Given the description of an element on the screen output the (x, y) to click on. 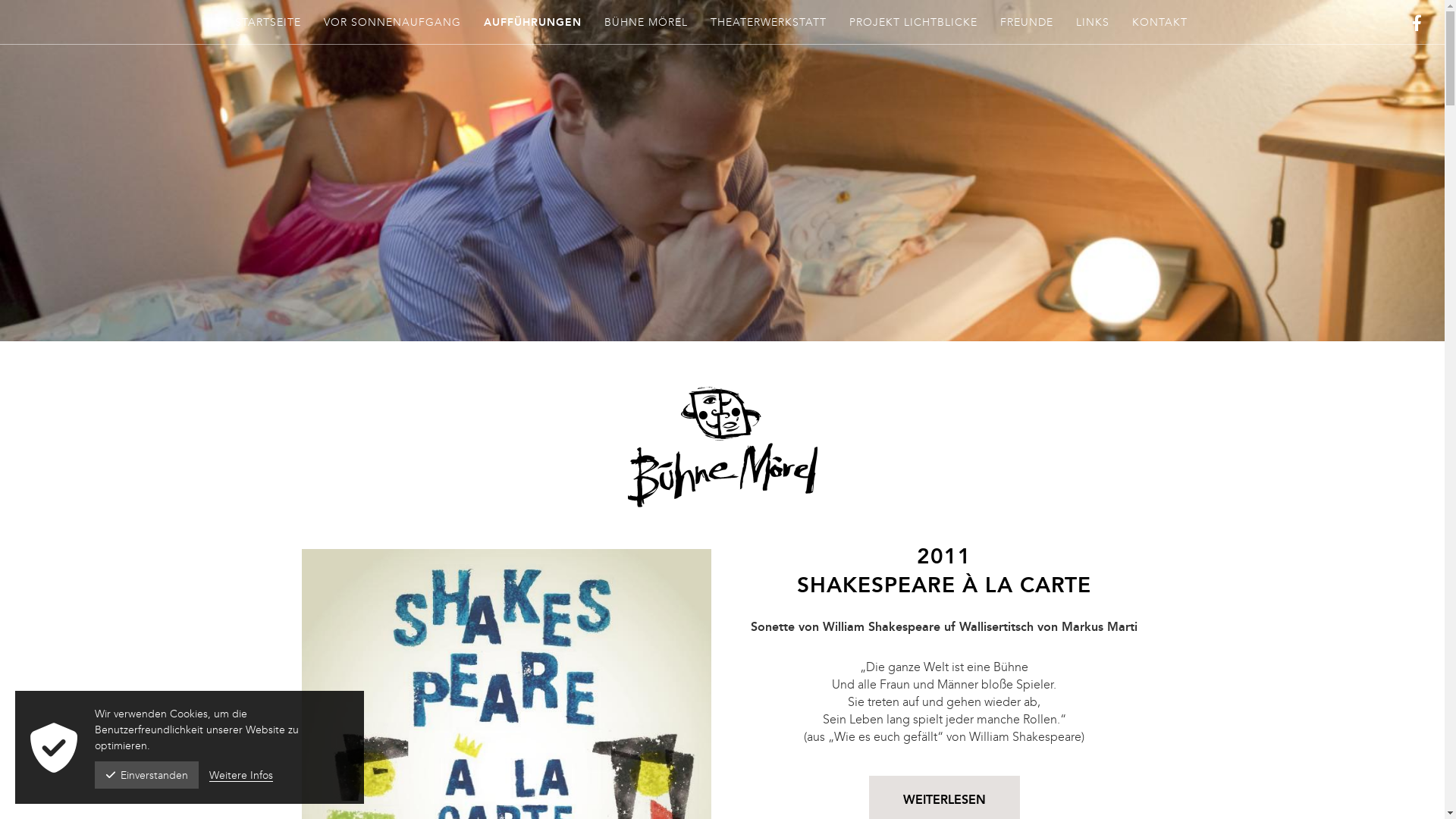
FREUNDE Element type: text (1025, 21)
LINKS Element type: text (1091, 21)
THEATERWERKSTATT Element type: text (767, 21)
PROJEKT LICHTBLICKE Element type: text (913, 21)
KONTAKT Element type: text (1158, 21)
Einverstanden Element type: text (146, 774)
Weitere Infos Element type: text (241, 775)
STARTSEITE Element type: text (268, 21)
VOR SONNENAUFGANG Element type: text (391, 21)
